Given the description of an element on the screen output the (x, y) to click on. 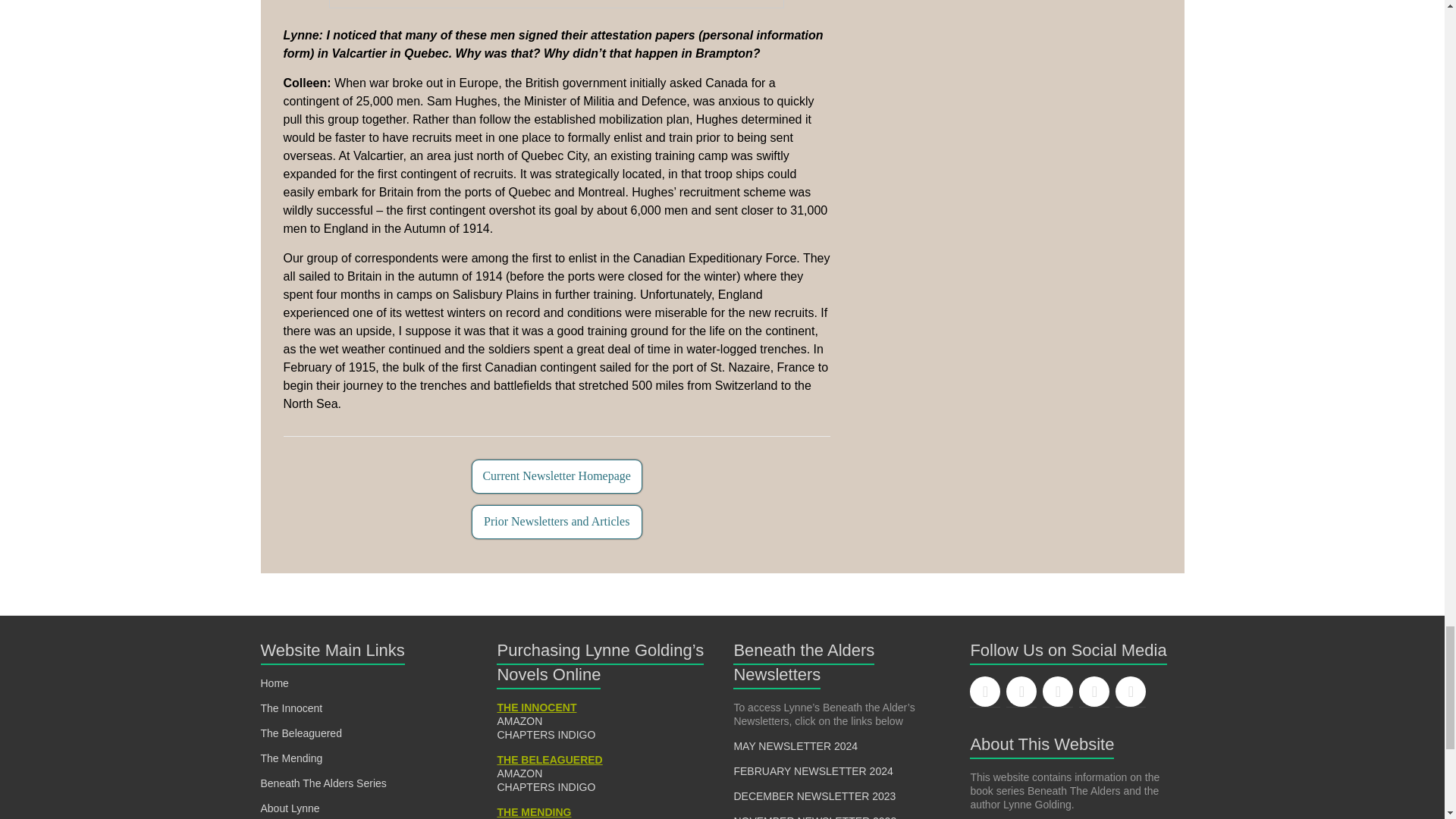
Instagram (1057, 691)
YouTube (1130, 691)
Twitter (1021, 691)
Current Newsletter Homepage (556, 476)
Facebook (984, 691)
The Innocent (291, 707)
Home (274, 683)
LinkedIn (1093, 691)
Prior Newsletters and Articles (556, 521)
The Beleaguered (301, 733)
